Given the description of an element on the screen output the (x, y) to click on. 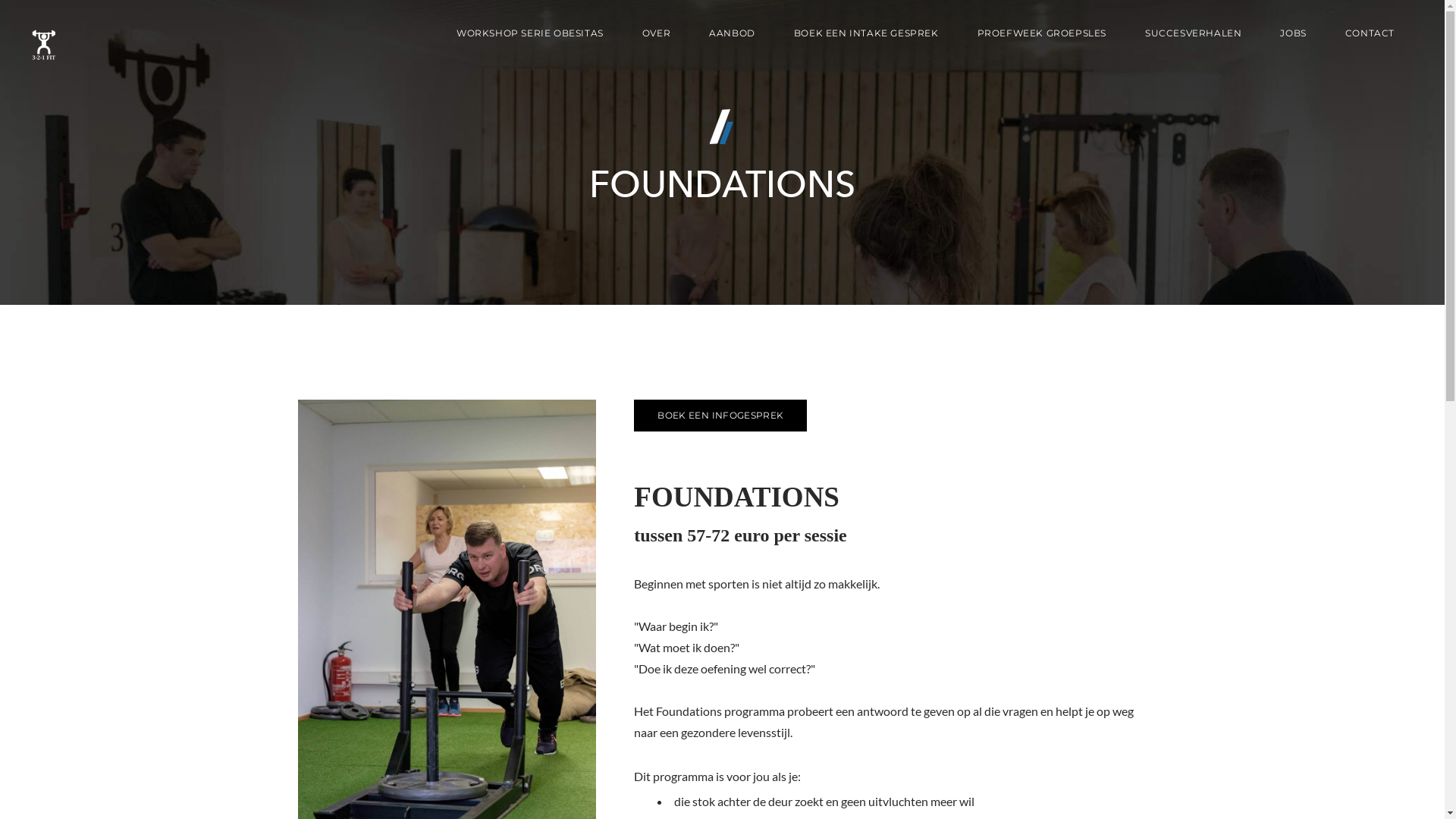
PROEFWEEK GROEPSLES Element type: text (1041, 32)
BOEK EEN INFOGESPREK Element type: text (719, 415)
BOEK EEN INTAKE GESPREK Element type: text (866, 32)
OVER Element type: text (656, 32)
AANBOD Element type: text (732, 32)
JOBS Element type: text (1292, 32)
SUCCESVERHALEN Element type: text (1193, 32)
CONTACT Element type: text (1369, 32)
WORKSHOP SERIE OBESITAS Element type: text (529, 32)
